Given the description of an element on the screen output the (x, y) to click on. 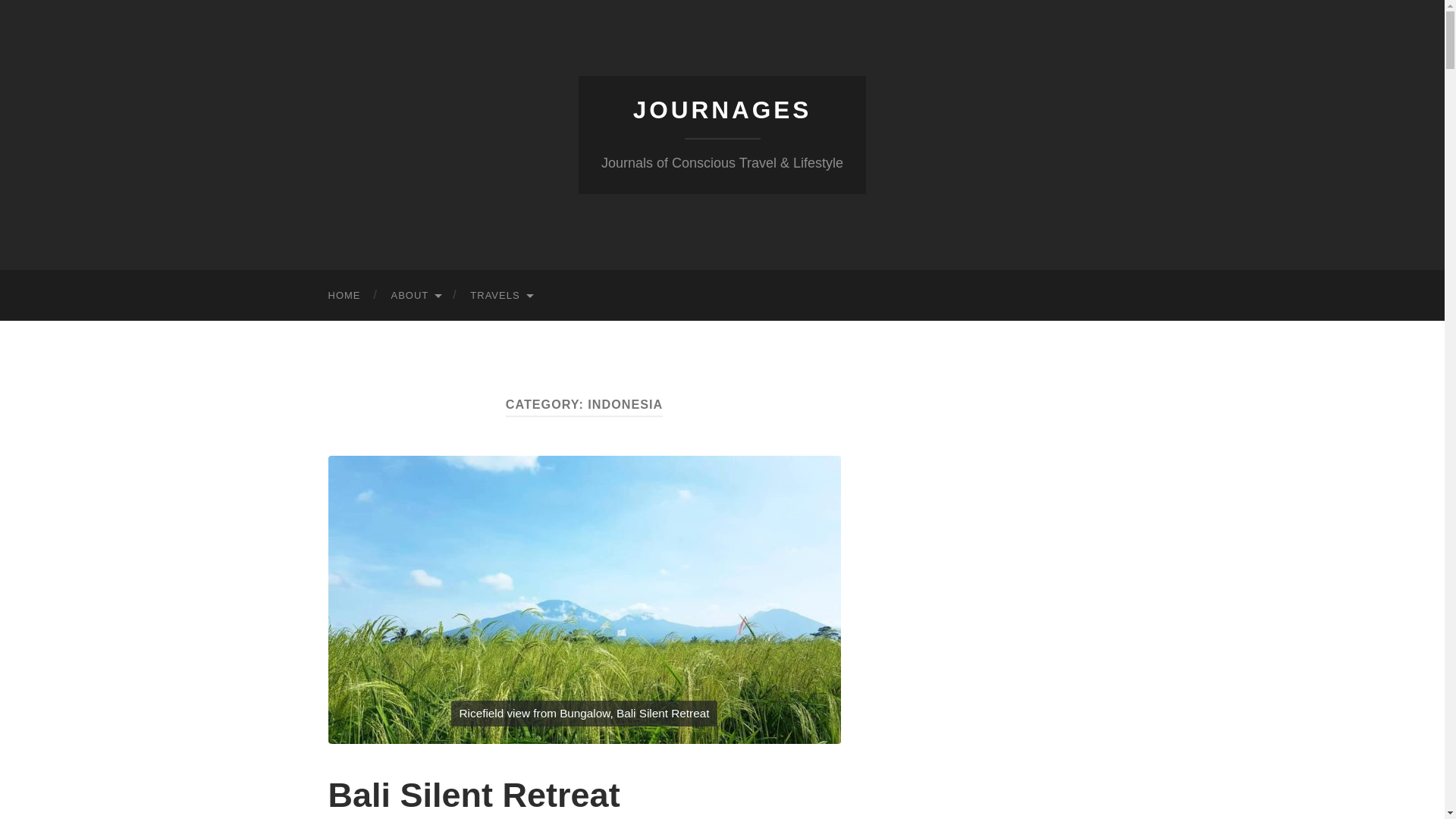
Bali Silent Retreat (473, 794)
TRAVELS (500, 295)
ABOUT (415, 295)
HOME (344, 295)
JOURNAGES (722, 109)
